Given the description of an element on the screen output the (x, y) to click on. 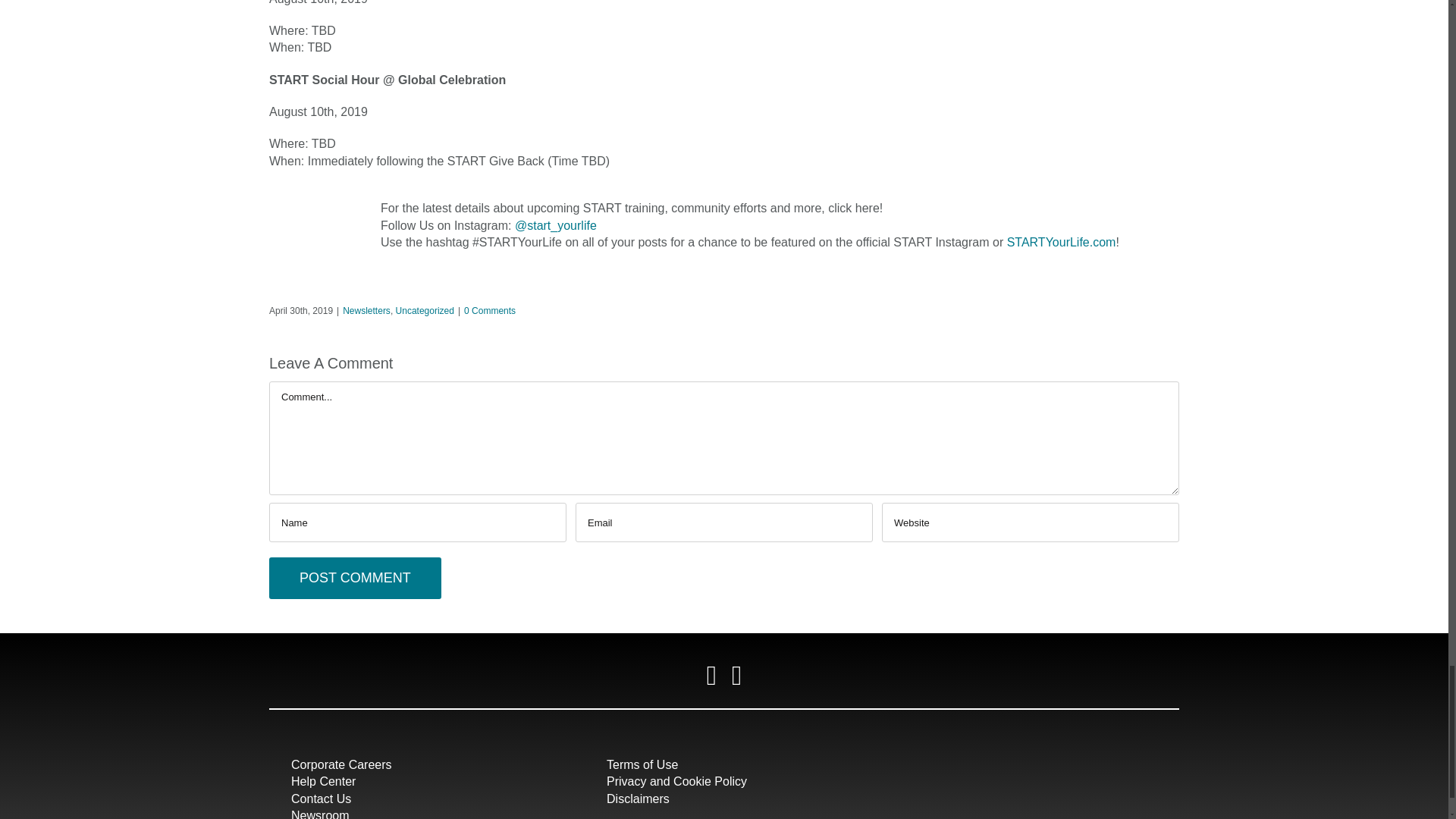
Disclaimers (638, 798)
STARTYourLife.com (1061, 241)
0 Comments (489, 310)
Help Center (323, 780)
Terms of Use (642, 764)
Contact Us (320, 798)
Newsletters (366, 310)
Newsroom (320, 814)
Post Comment (355, 577)
Uncategorized (425, 310)
Privacy and Cookie Policy (676, 780)
Corporate Careers (341, 764)
Post Comment (355, 577)
